Given the description of an element on the screen output the (x, y) to click on. 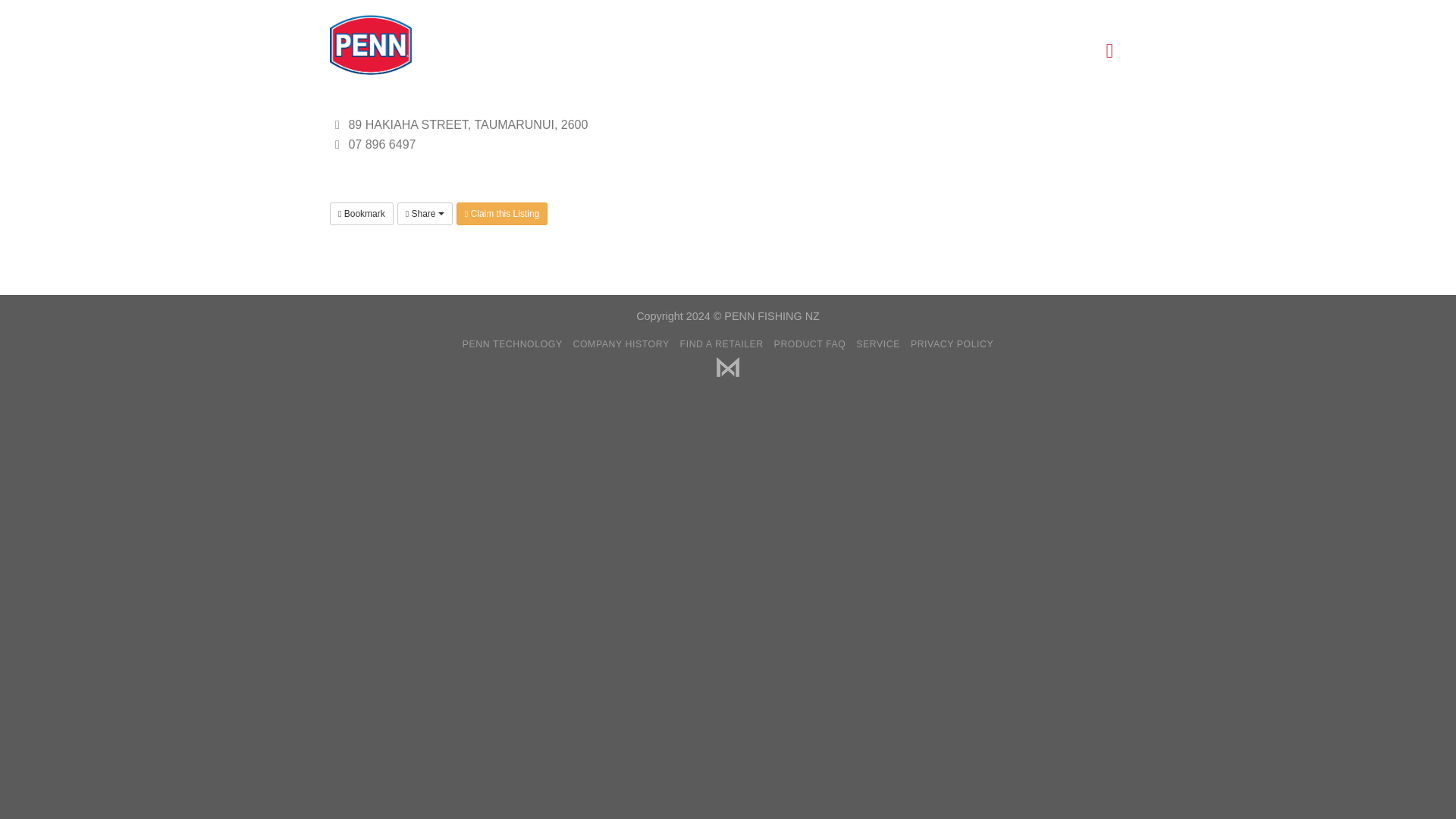
COMBOS (662, 51)
Central Coast Web Design by Maximum Xposure (727, 366)
Claim this Listing (502, 212)
Service (1109, 11)
ACCESSORIES (761, 51)
Bookmark (361, 212)
RODS (589, 51)
Contact Us (1040, 11)
Find a Retailer (958, 11)
COMPANY HISTORY (621, 344)
Share (424, 212)
BOOTCAMP (975, 51)
REELS (523, 51)
Bookmark this Listing (361, 212)
PENN TECHNOLOGY (512, 344)
